Given the description of an element on the screen output the (x, y) to click on. 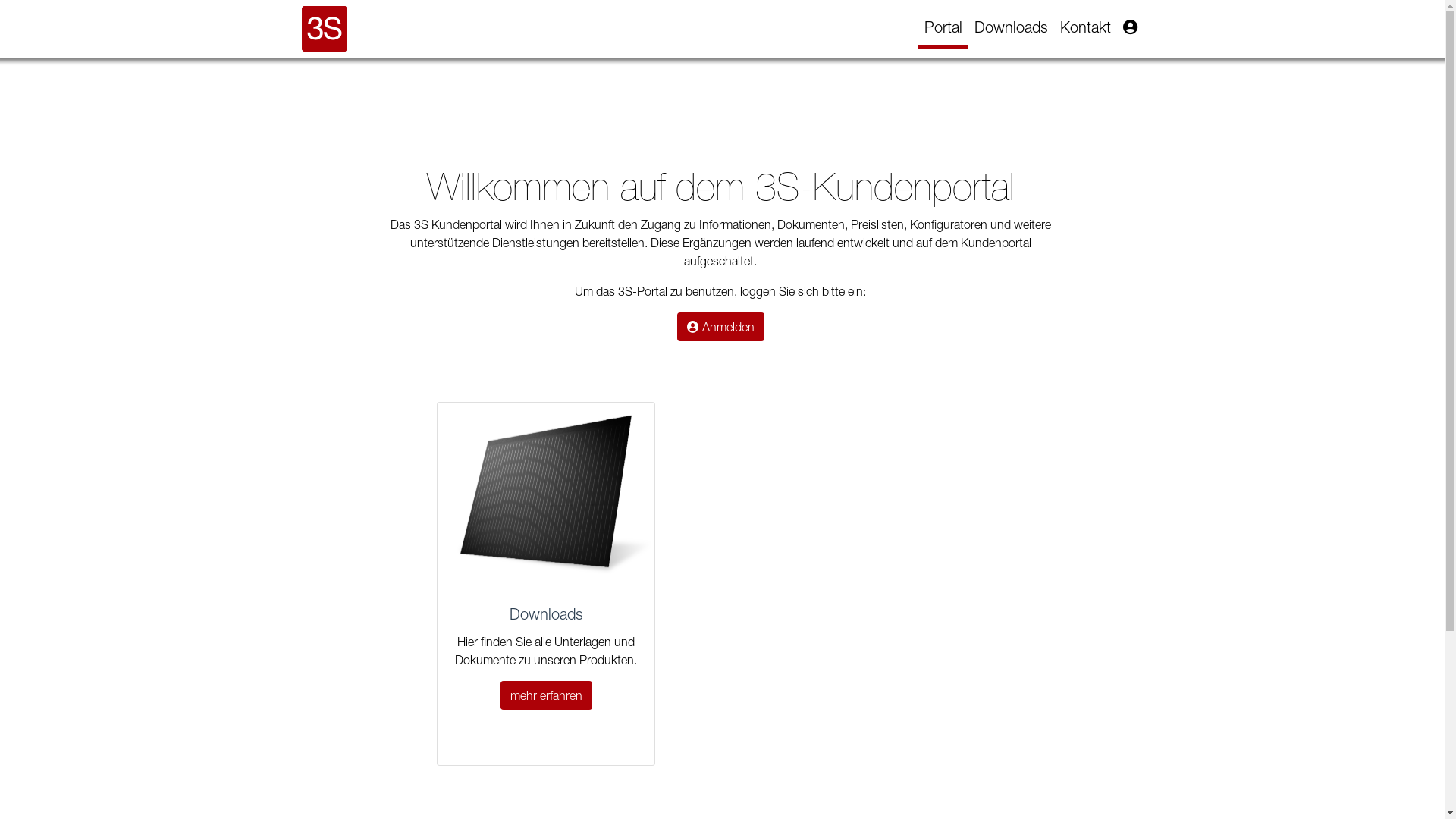
Downloads Element type: text (1010, 26)
Portal Element type: text (942, 28)
mehr erfahren Element type: text (546, 694)
Login Element type: hover (1129, 26)
Anmelden Element type: text (720, 326)
Kontakt Element type: text (1085, 26)
